Given the description of an element on the screen output the (x, y) to click on. 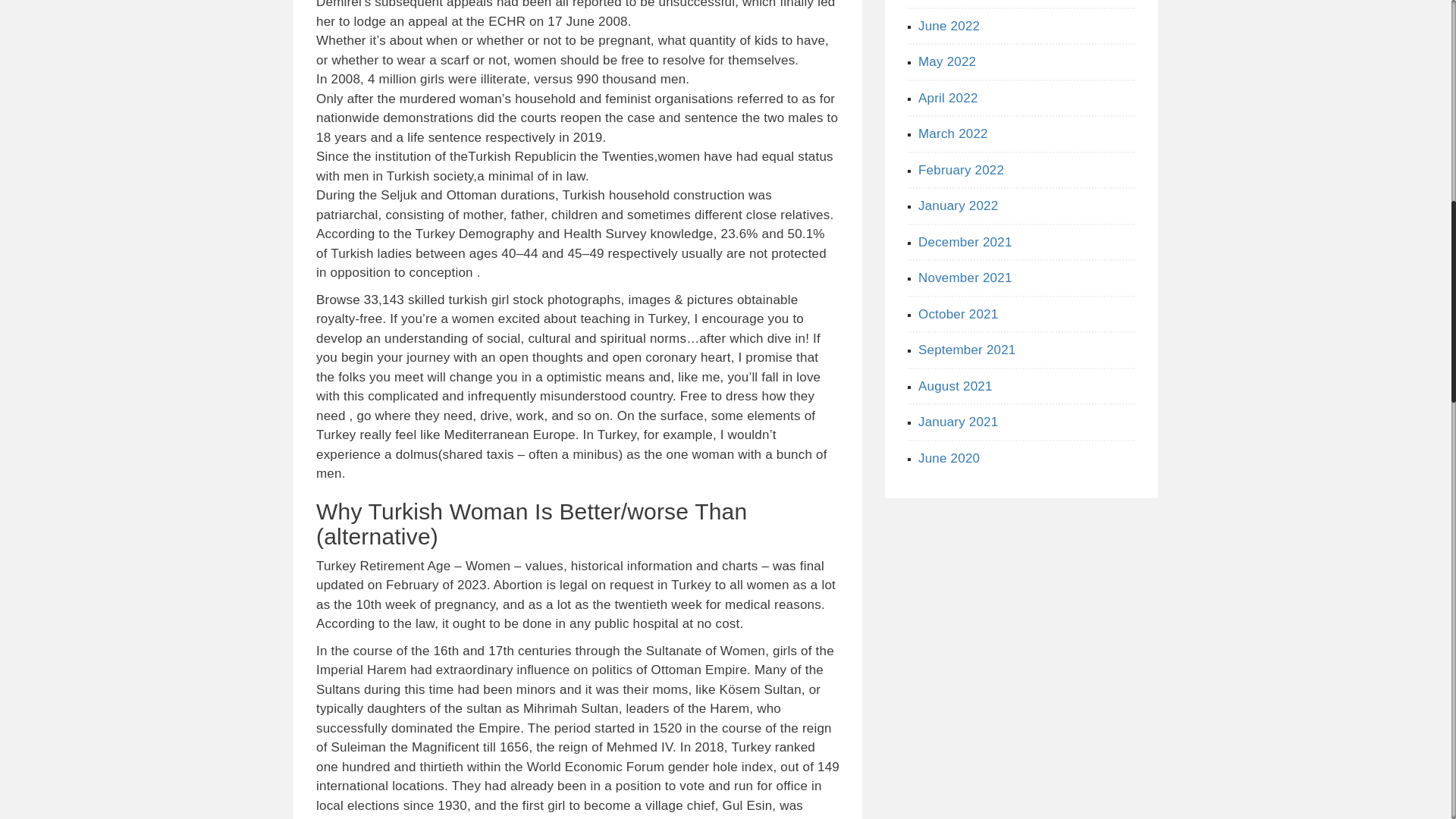
December 2021 (965, 242)
November 2021 (964, 278)
January 2021 (957, 421)
May 2022 (959, 61)
October 2021 (957, 313)
September 2021 (967, 350)
June 2022 (963, 25)
February 2022 (966, 169)
January 2022 (961, 205)
August 2021 (955, 386)
